Given the description of an element on the screen output the (x, y) to click on. 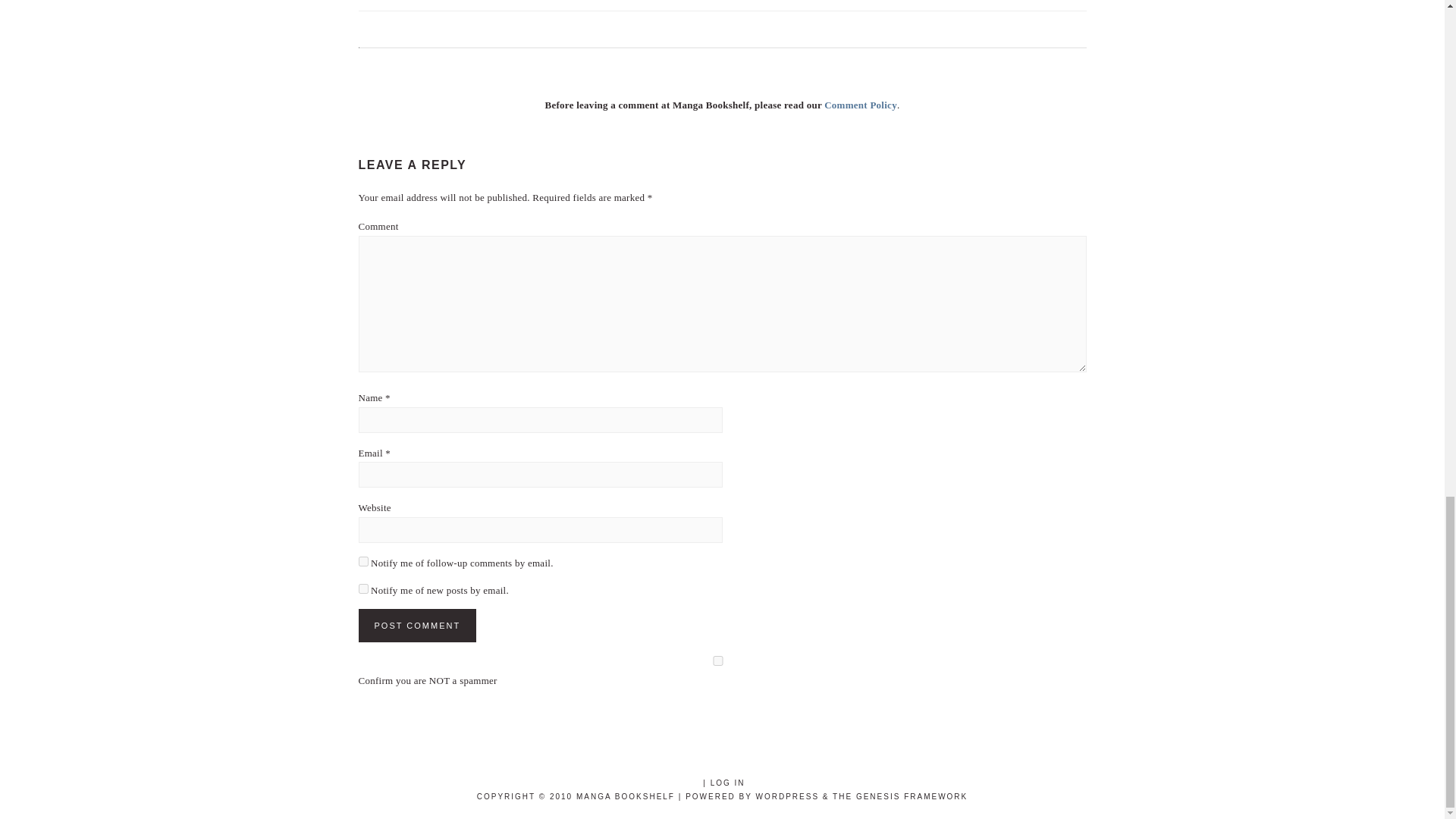
Post Comment (417, 625)
subscribe (363, 561)
subscribe (363, 588)
on (717, 660)
